Given the description of an element on the screen output the (x, y) to click on. 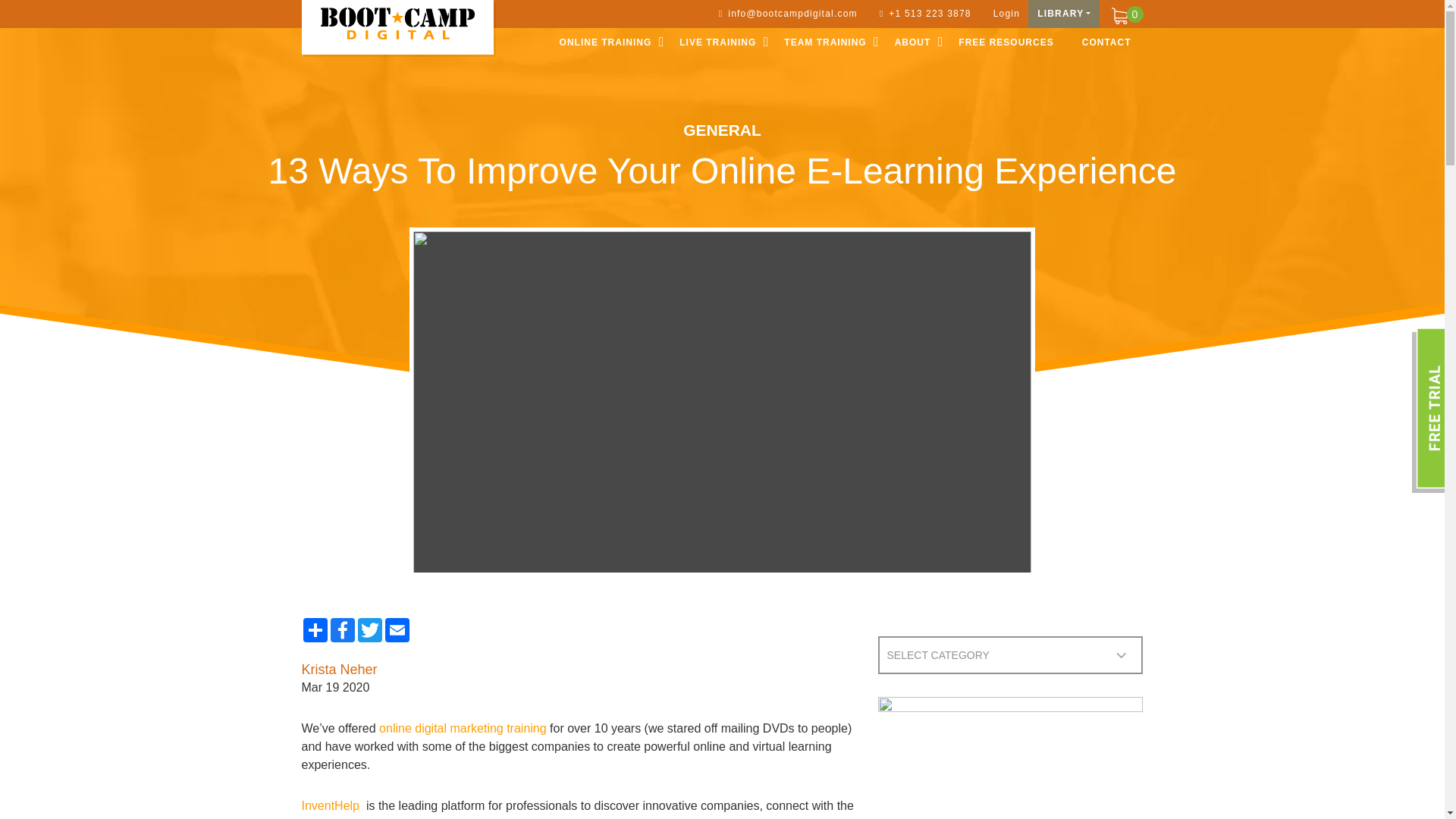
LIBRARY (1063, 13)
Boot Camp Digital (397, 23)
Login (1004, 13)
